Given the description of an element on the screen output the (x, y) to click on. 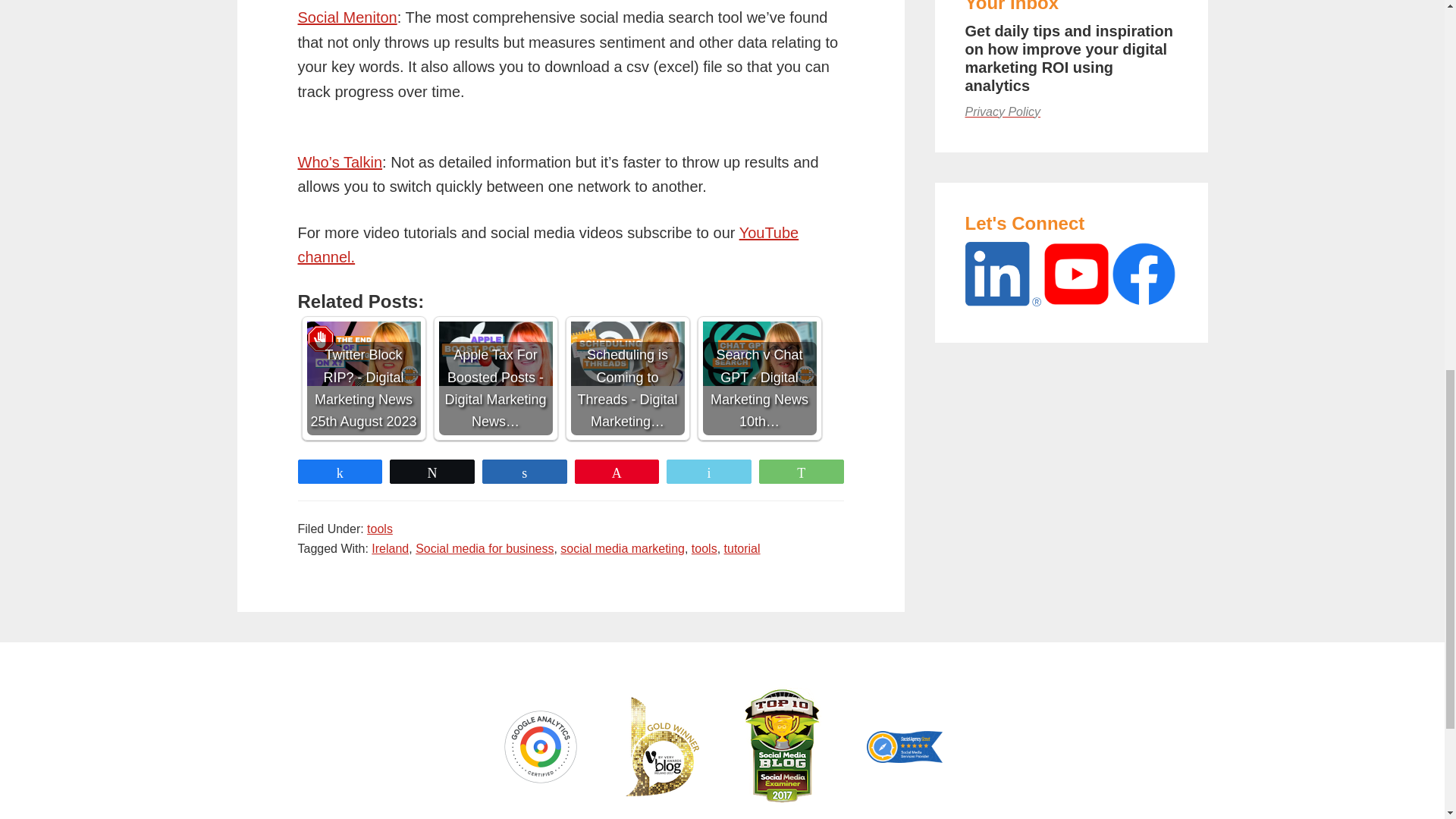
Ireland (390, 548)
Social Meniton (346, 17)
Twitter Block RIP? - Digital Marketing News 25th August 2023 (362, 377)
tools (379, 528)
social media marketing (622, 548)
Twitter Block RIP? - Digital Marketing News 25th August 2023 (362, 353)
Social media for business (483, 548)
